Given the description of an element on the screen output the (x, y) to click on. 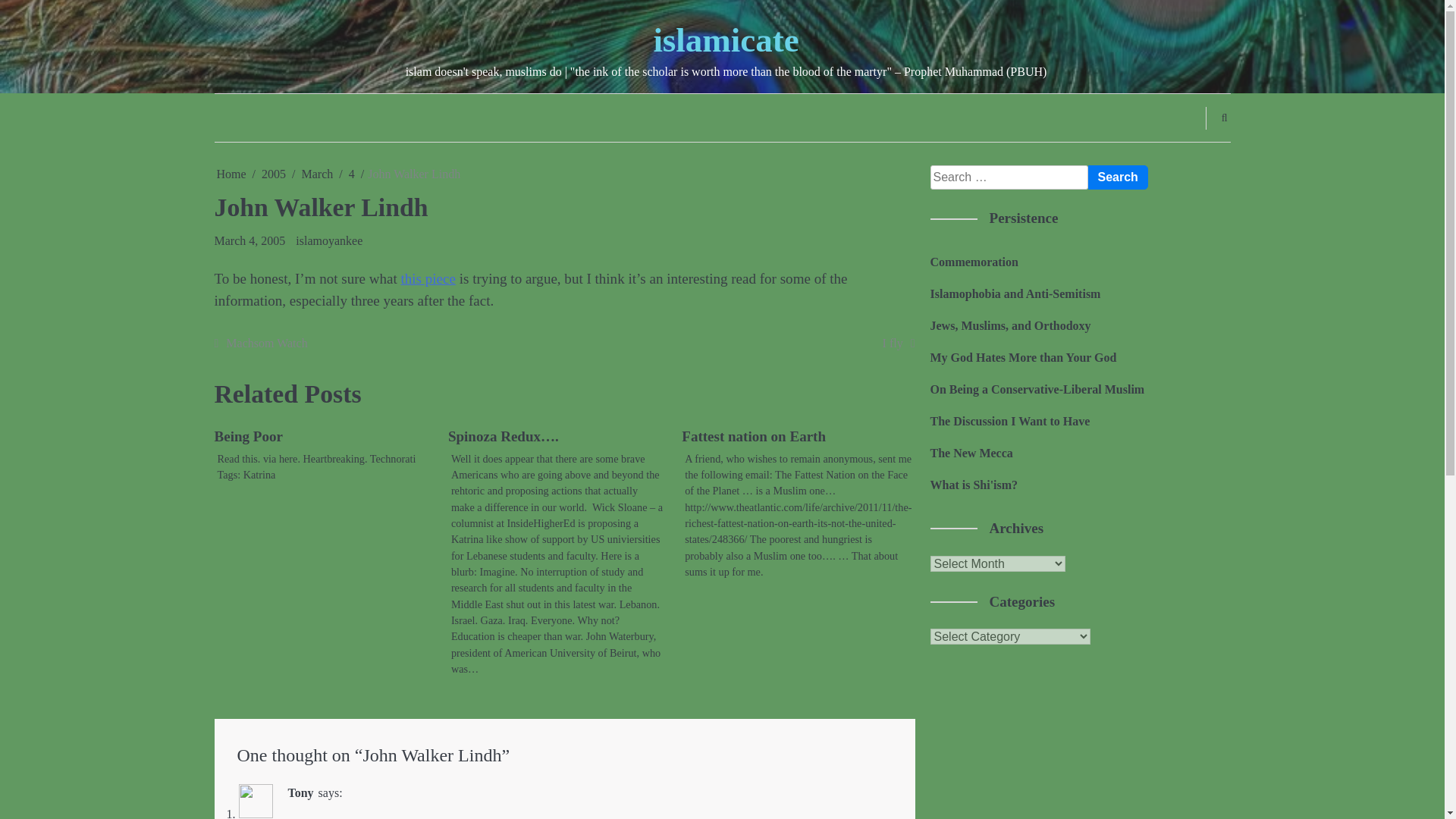
Jews, Muslims, and Orthodoxy (1010, 325)
islamicate (724, 39)
The Discussion I Want to Have (1009, 420)
islamoyankee (328, 240)
Fattest nation on Earth (753, 436)
Machsom Watch (260, 343)
Search (1117, 177)
Search (1195, 152)
What is Shi'ism? (973, 484)
My God Hates More than Your God (1023, 357)
2005 (273, 173)
Home (231, 173)
March (317, 173)
On Being a Conservative-Liberal Muslim (1037, 389)
Search (1117, 177)
